Given the description of an element on the screen output the (x, y) to click on. 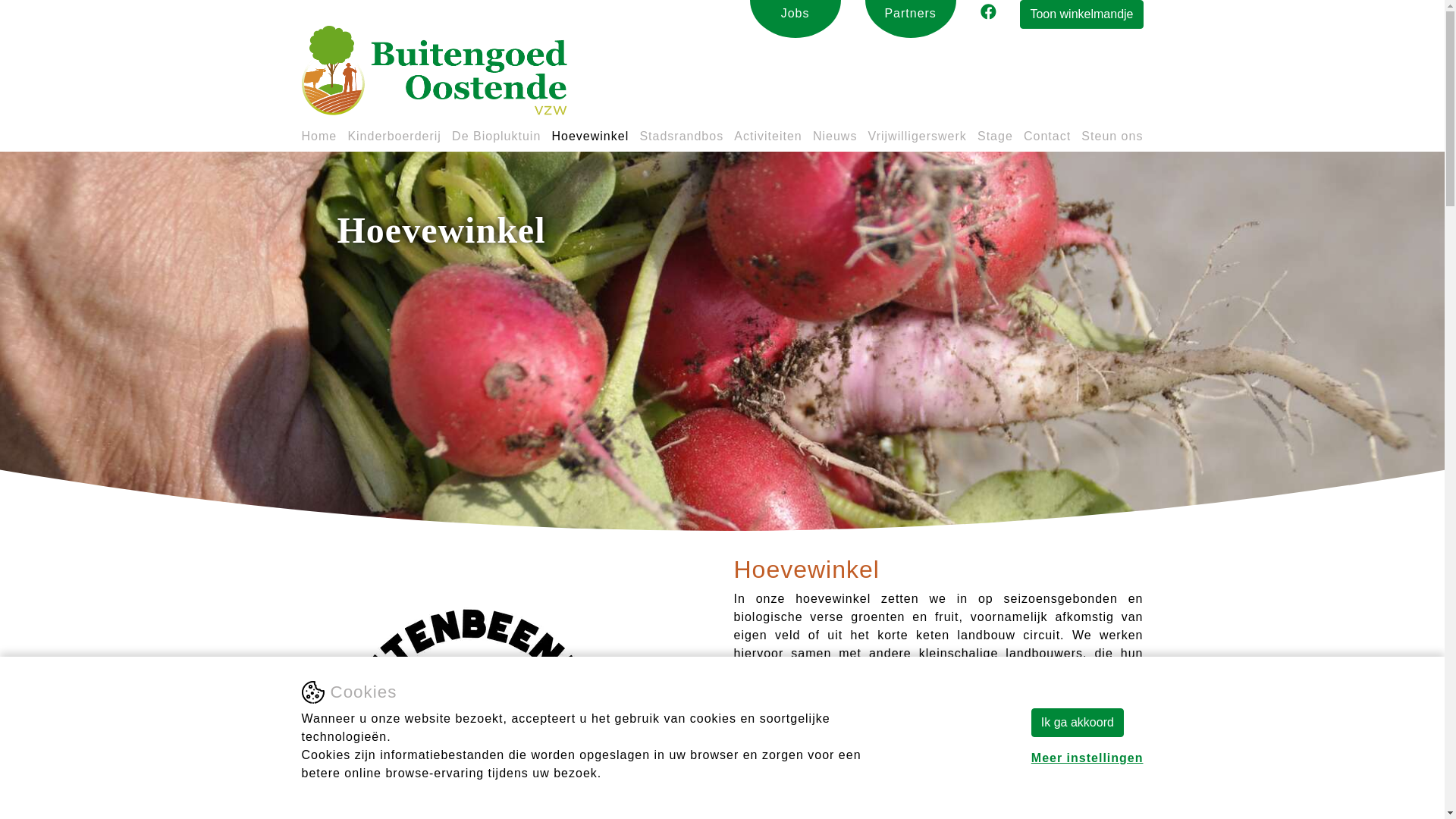
Stadsrandbos Element type: text (681, 139)
De Biopluktuin Element type: text (495, 139)
Nieuws Element type: text (834, 139)
Jobs Element type: text (794, 13)
Hoevewinkel Element type: text (589, 139)
Partners Element type: text (910, 13)
Contact Element type: text (1046, 139)
Home Element type: text (319, 139)
Kinderboerderij Element type: text (394, 139)
Stage Element type: text (995, 139)
Steun ons Element type: text (1111, 139)
Activiteiten Element type: text (767, 139)
Ik ga akkoord Element type: text (1077, 722)
Meer instellingen Element type: text (1087, 757)
Toon winkelmandje Element type: text (1080, 14)
Vrijwilligerswerk Element type: text (917, 139)
